Given the description of an element on the screen output the (x, y) to click on. 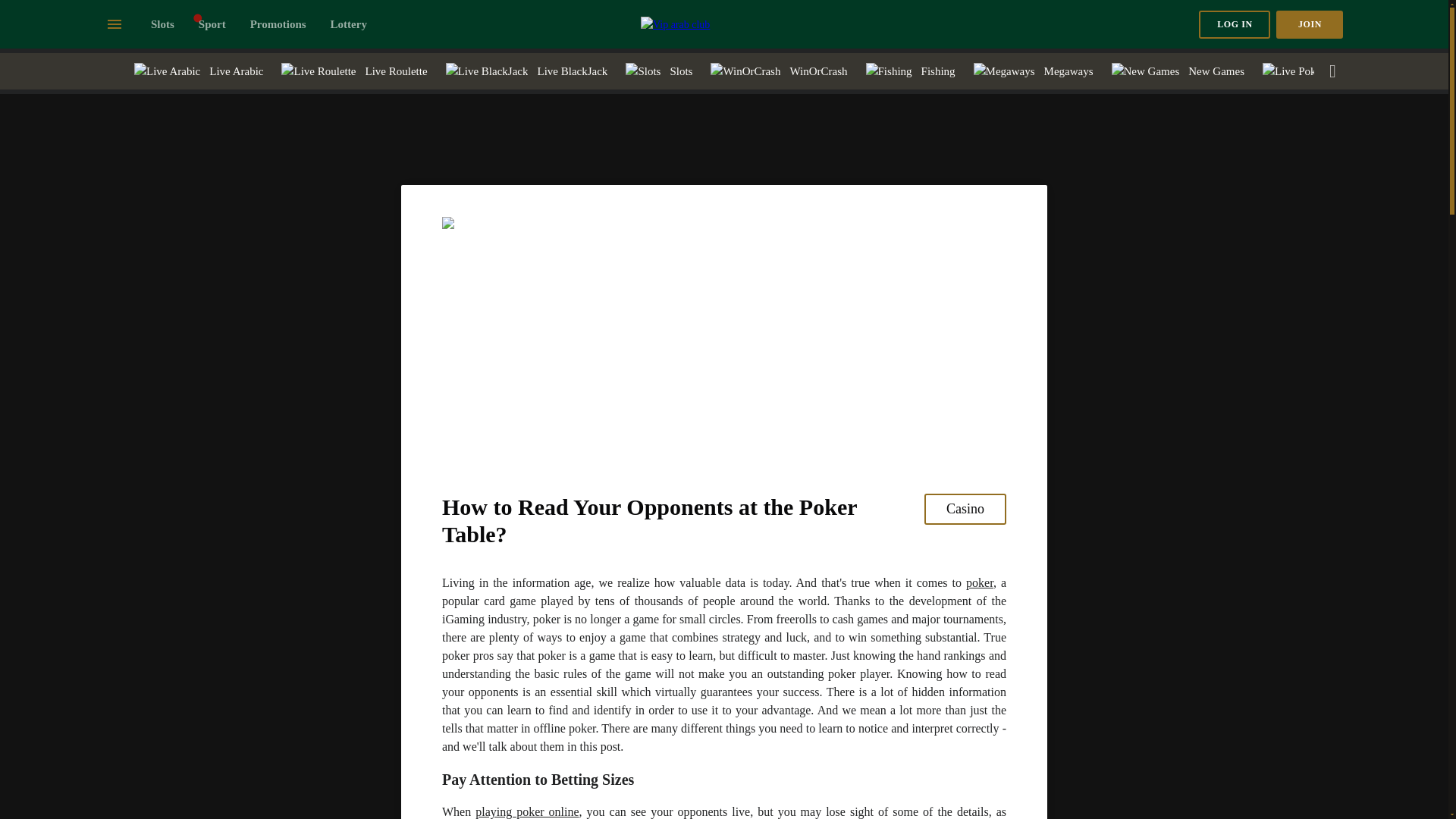
New Games (1177, 71)
Slots (658, 71)
Live Poker (1323, 71)
JOIN (1309, 24)
WinOrCrash (778, 71)
Fishing (910, 71)
Megaways (1032, 71)
Lottery (348, 24)
Promotions (277, 24)
Sport (211, 24)
playing poker online (527, 811)
Live BlackJack (526, 71)
Slots (162, 24)
Live Roulette (353, 71)
Casino (965, 508)
